Given the description of an element on the screen output the (x, y) to click on. 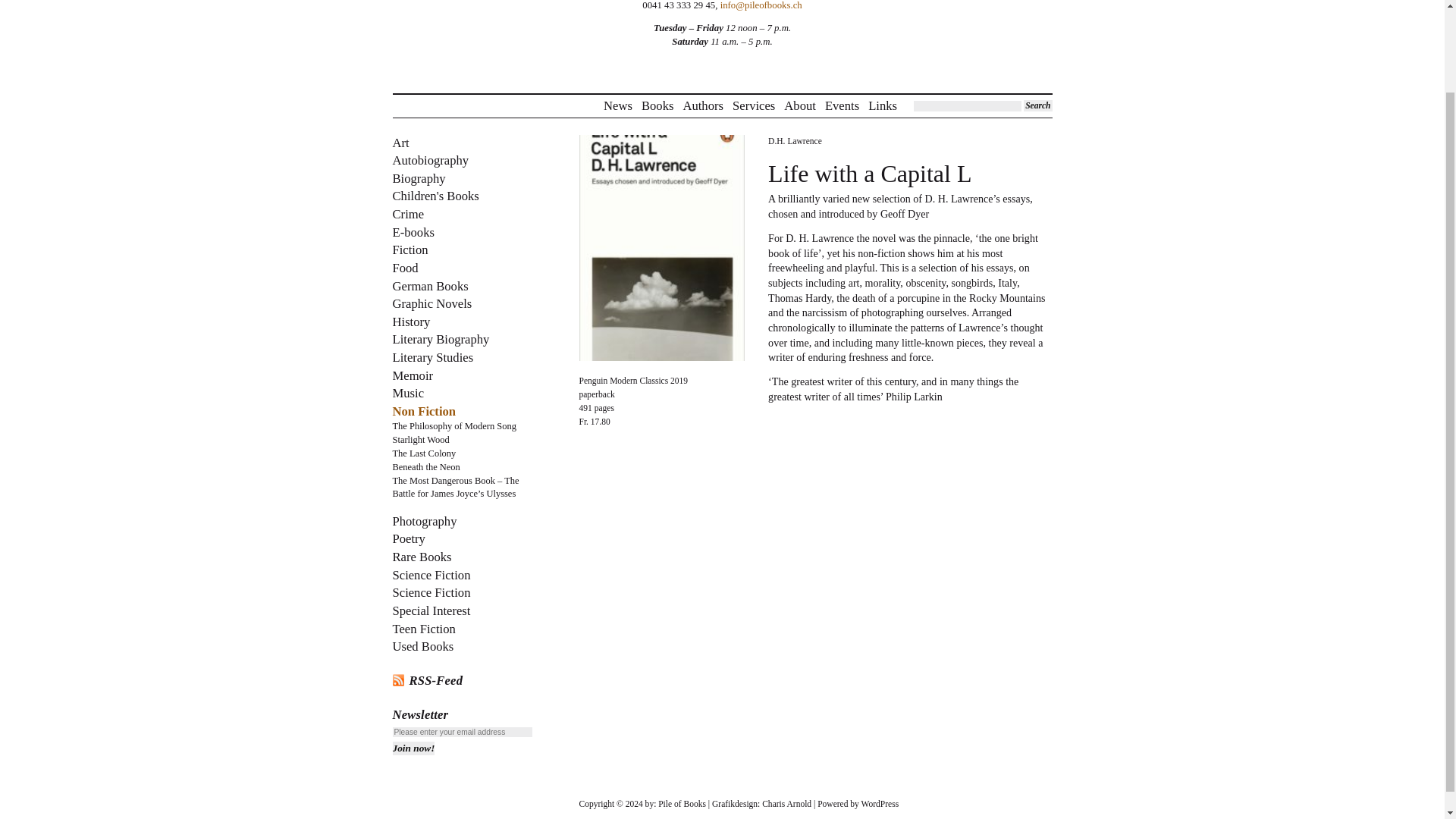
Special Interest (431, 610)
Literary Studies (433, 357)
Starlight Wood (421, 439)
RSS-Feed (462, 680)
Beneath the Neon (426, 466)
Music (409, 392)
Food (406, 268)
About (799, 106)
Services (753, 106)
Photography (425, 521)
Links (881, 106)
Non Fiction (425, 411)
Books (658, 106)
Autobiography (430, 160)
Teen Fiction (424, 628)
